Given the description of an element on the screen output the (x, y) to click on. 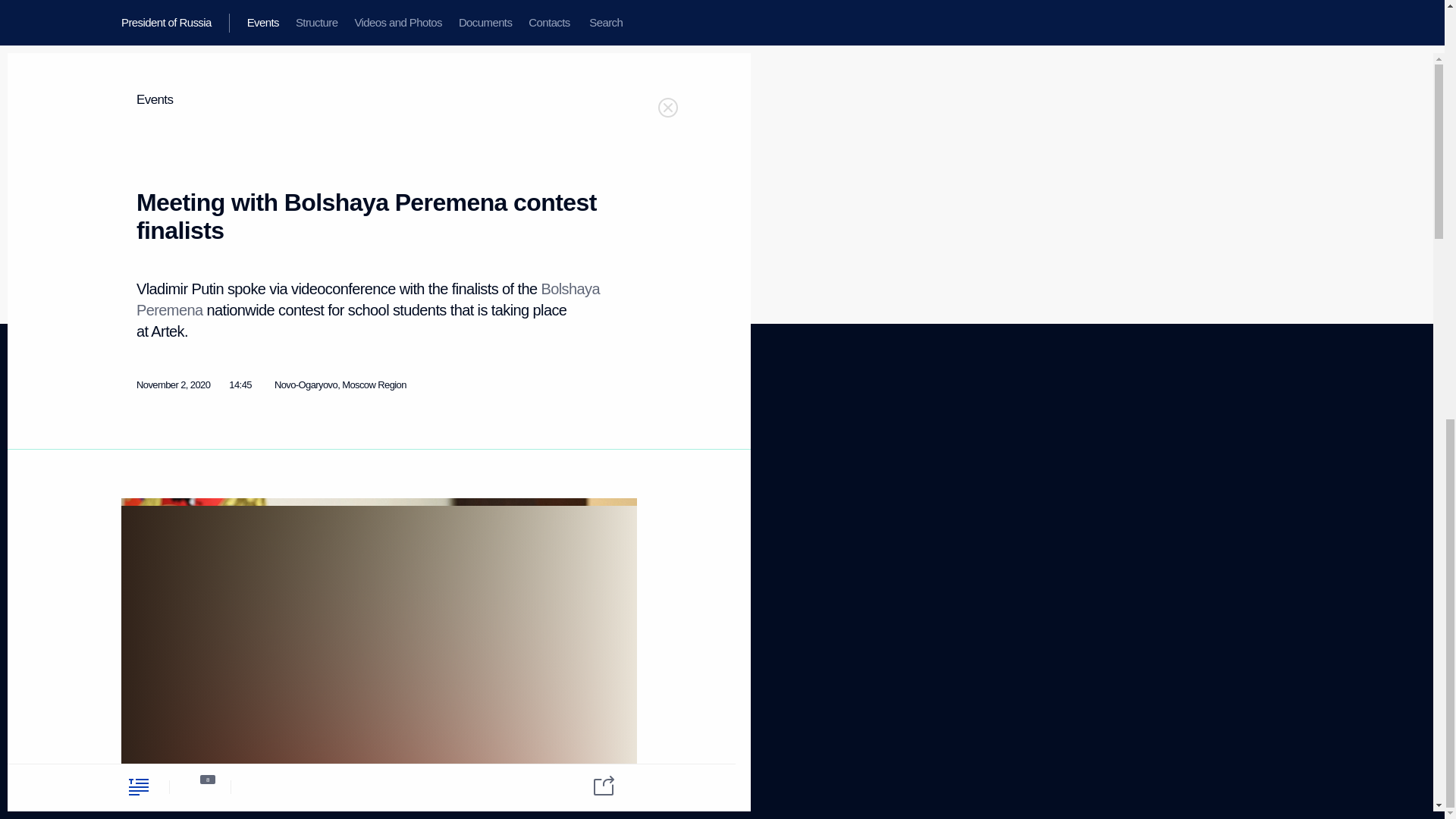
YouTube Channel (429, 474)
The Constitution of Russia (309, 472)
About website (558, 440)
State Insignia (284, 491)
Using website content (574, 460)
Directory (138, 625)
Subscribe (140, 606)
Version for People with Disabilities (165, 668)
Events (134, 440)
Structure (138, 460)
Documents (317, 447)
Send a Letter (143, 497)
For the Media (284, 510)
Telegram Channel (148, 571)
